Given the description of an element on the screen output the (x, y) to click on. 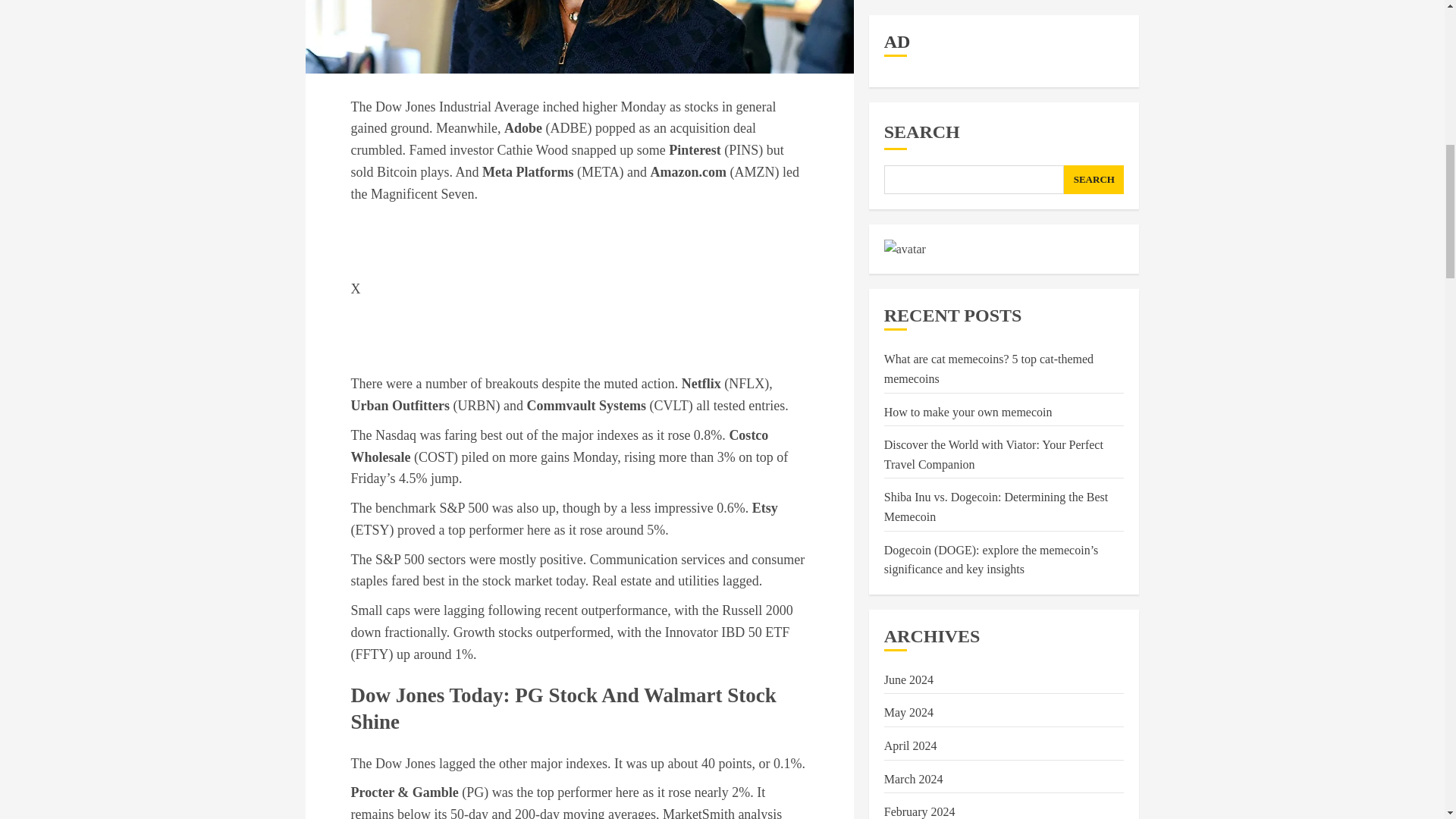
March 2024 (913, 273)
February 2024 (919, 305)
June 2024 (908, 173)
May 2024 (908, 205)
April 2024 (910, 239)
Shiba Inu vs. Dogecoin: Determining the Best Memecoin (995, 8)
